Given the description of an element on the screen output the (x, y) to click on. 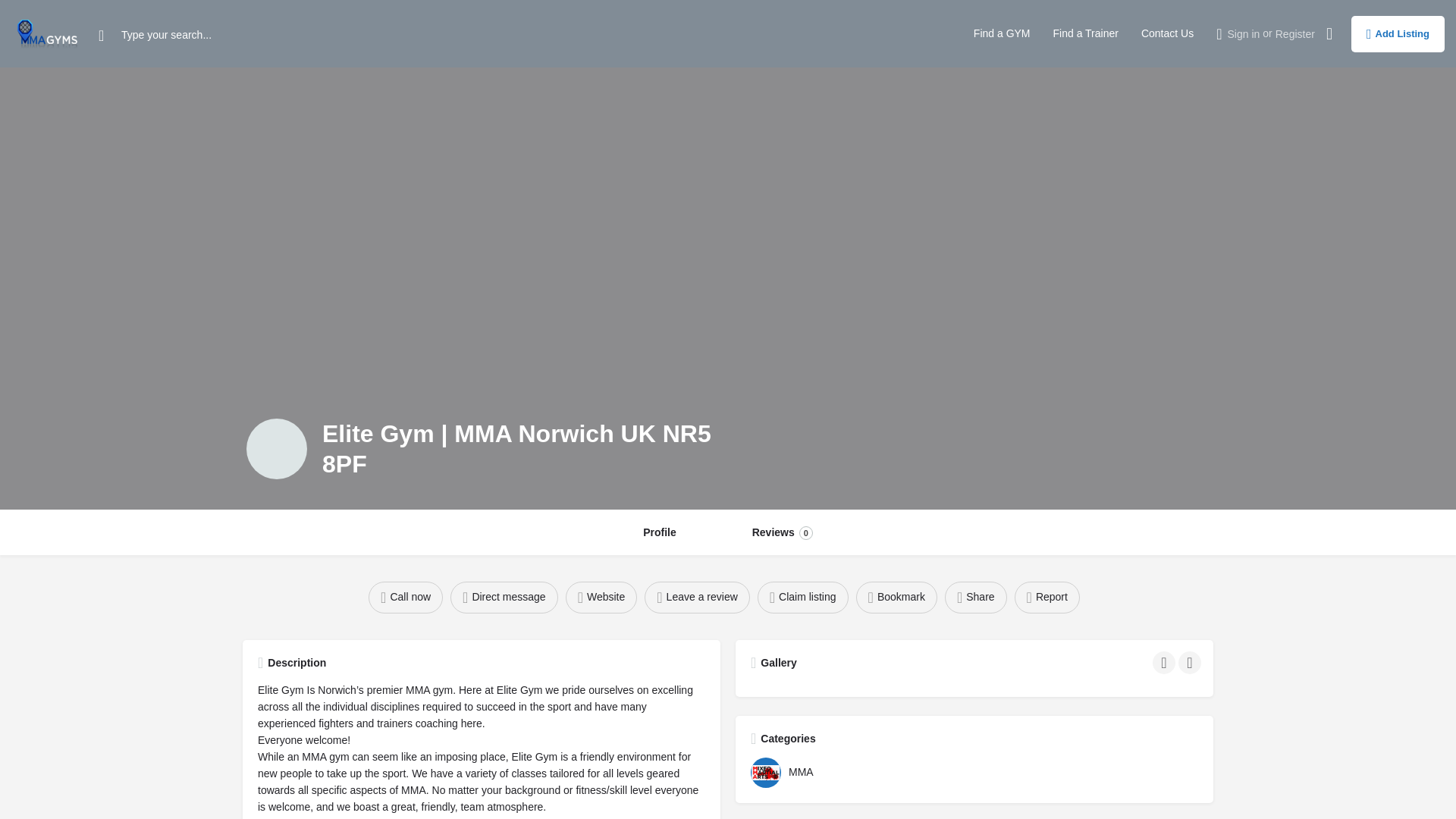
Website (782, 533)
Claim listing (601, 597)
Find a GYM (802, 597)
Elite Gym Logo (1002, 32)
Call now (276, 448)
Add Listing (405, 597)
Register (1397, 33)
Share (1294, 33)
Sign in (975, 597)
